Given the description of an element on the screen output the (x, y) to click on. 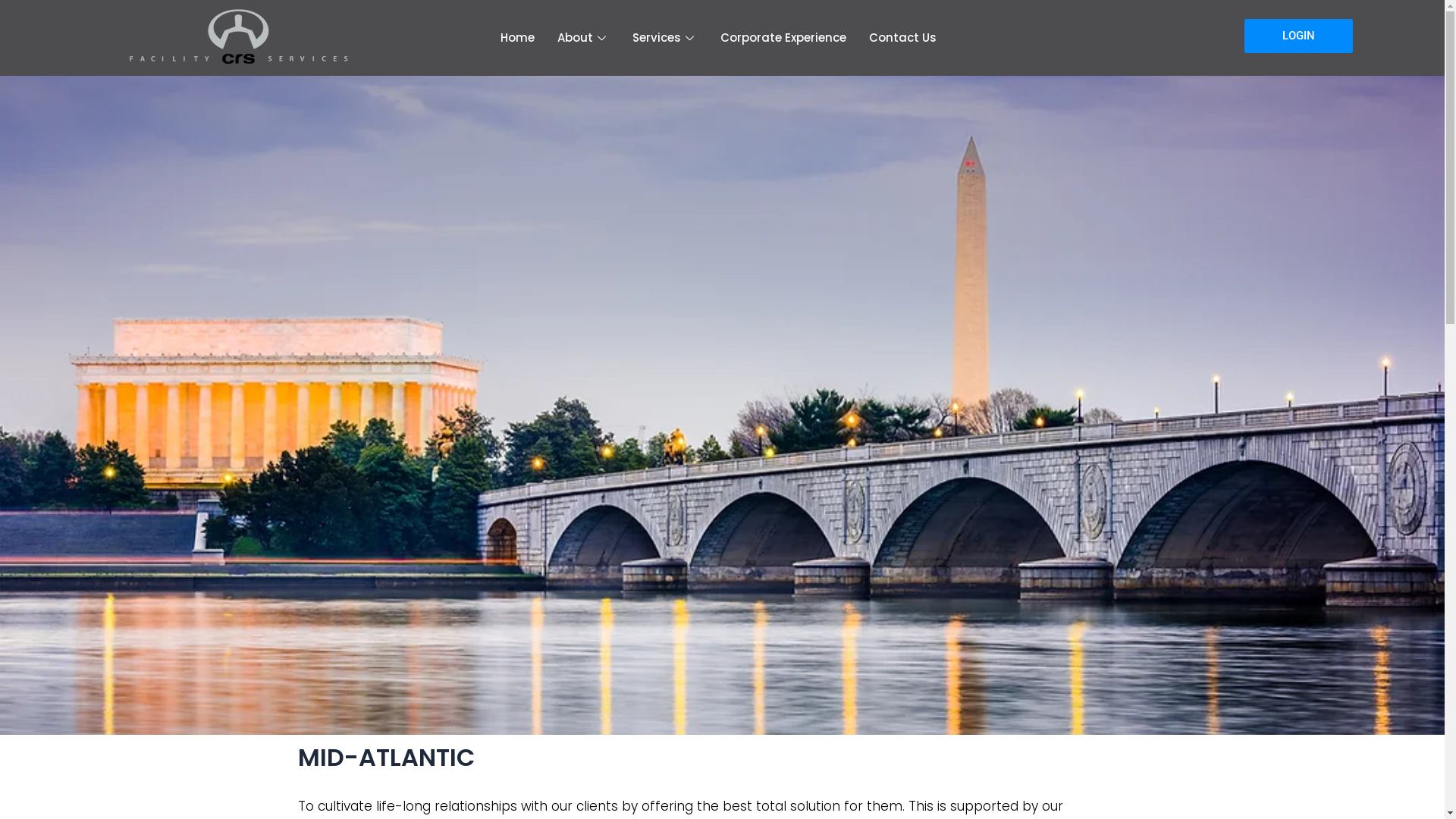
About Element type: text (583, 37)
LOGIN Element type: text (1297, 35)
Corporate Experience Element type: text (783, 37)
Services Element type: text (665, 37)
Contact Us Element type: text (902, 37)
Home Element type: text (517, 37)
